Given the description of an element on the screen output the (x, y) to click on. 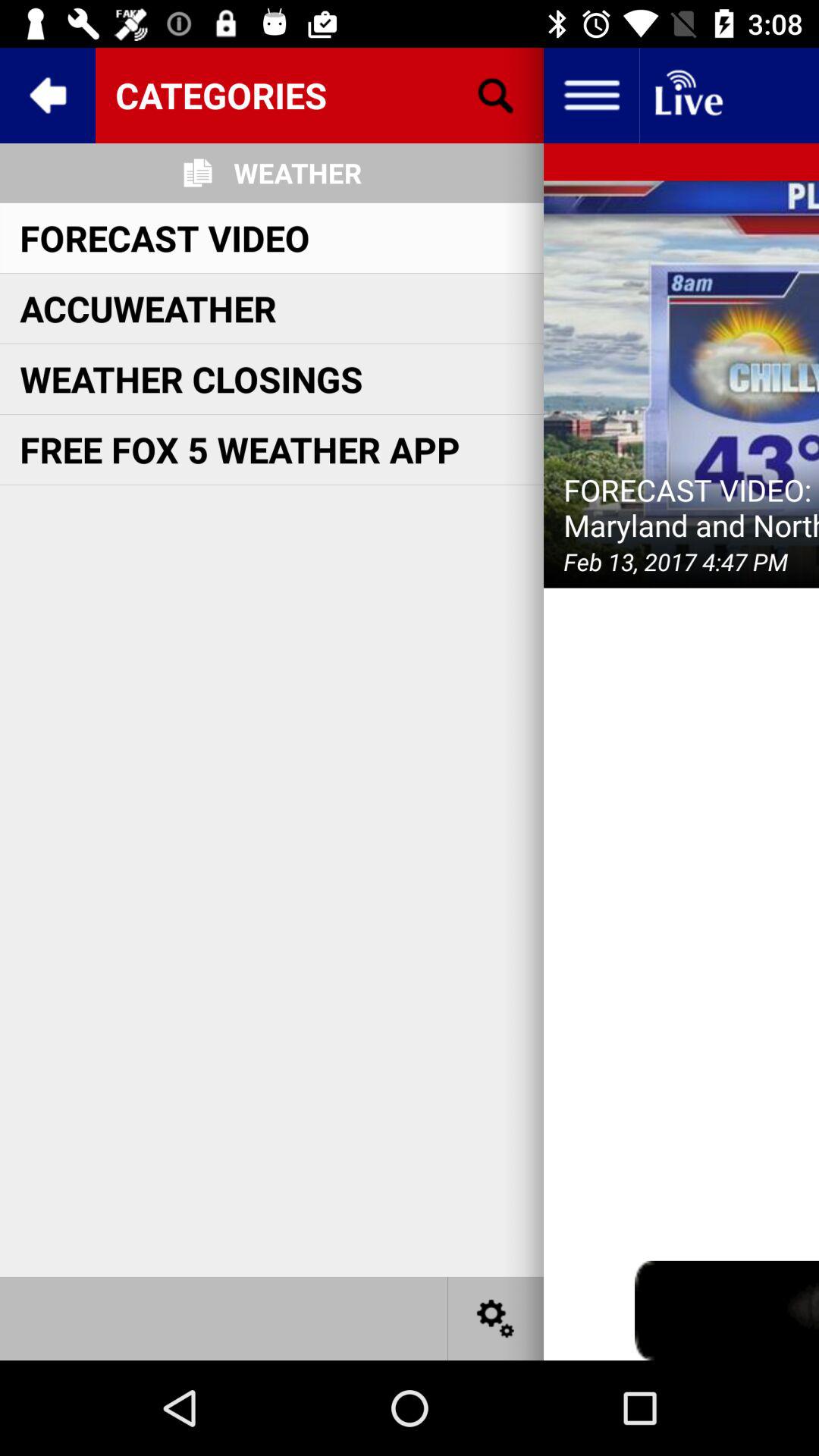
turn on item below the forecast video icon (147, 308)
